Given the description of an element on the screen output the (x, y) to click on. 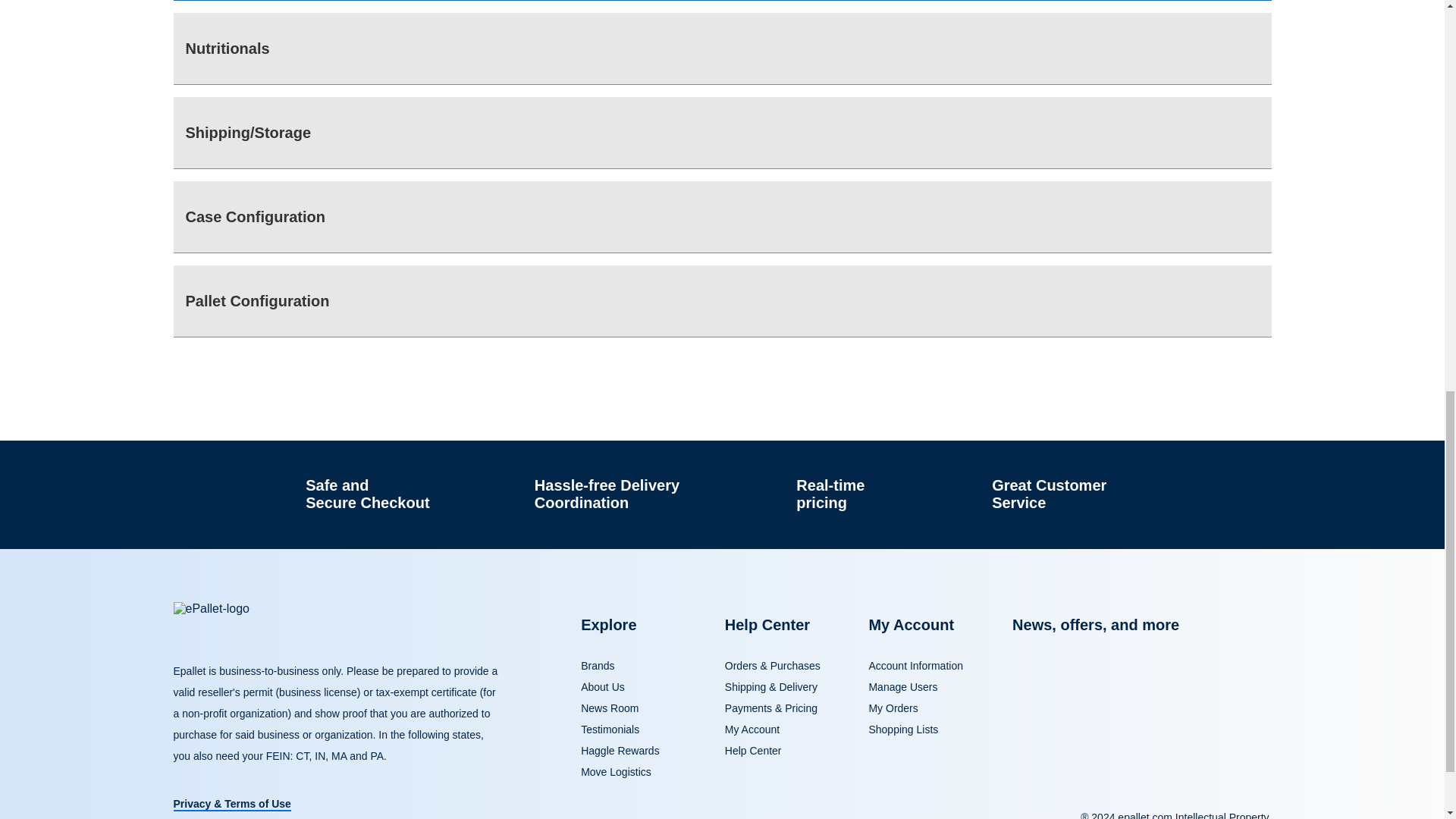
Brands (597, 665)
News Room (609, 707)
About Us (602, 686)
My Account (751, 729)
Haggle Rewards (619, 750)
Move Logistics (615, 771)
Testimonials (609, 729)
